Given the description of an element on the screen output the (x, y) to click on. 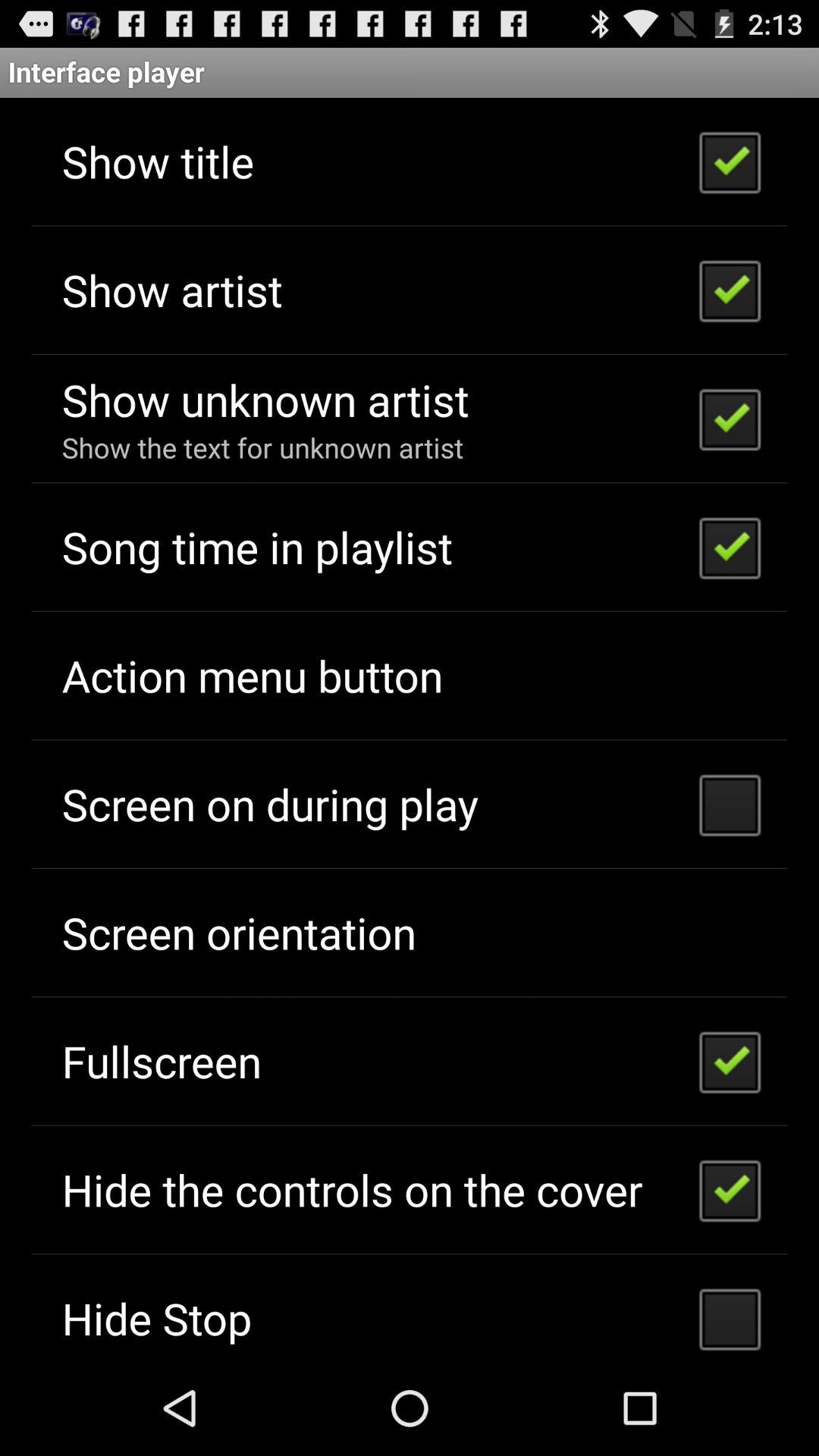
press the icon above screen on during app (252, 675)
